Given the description of an element on the screen output the (x, y) to click on. 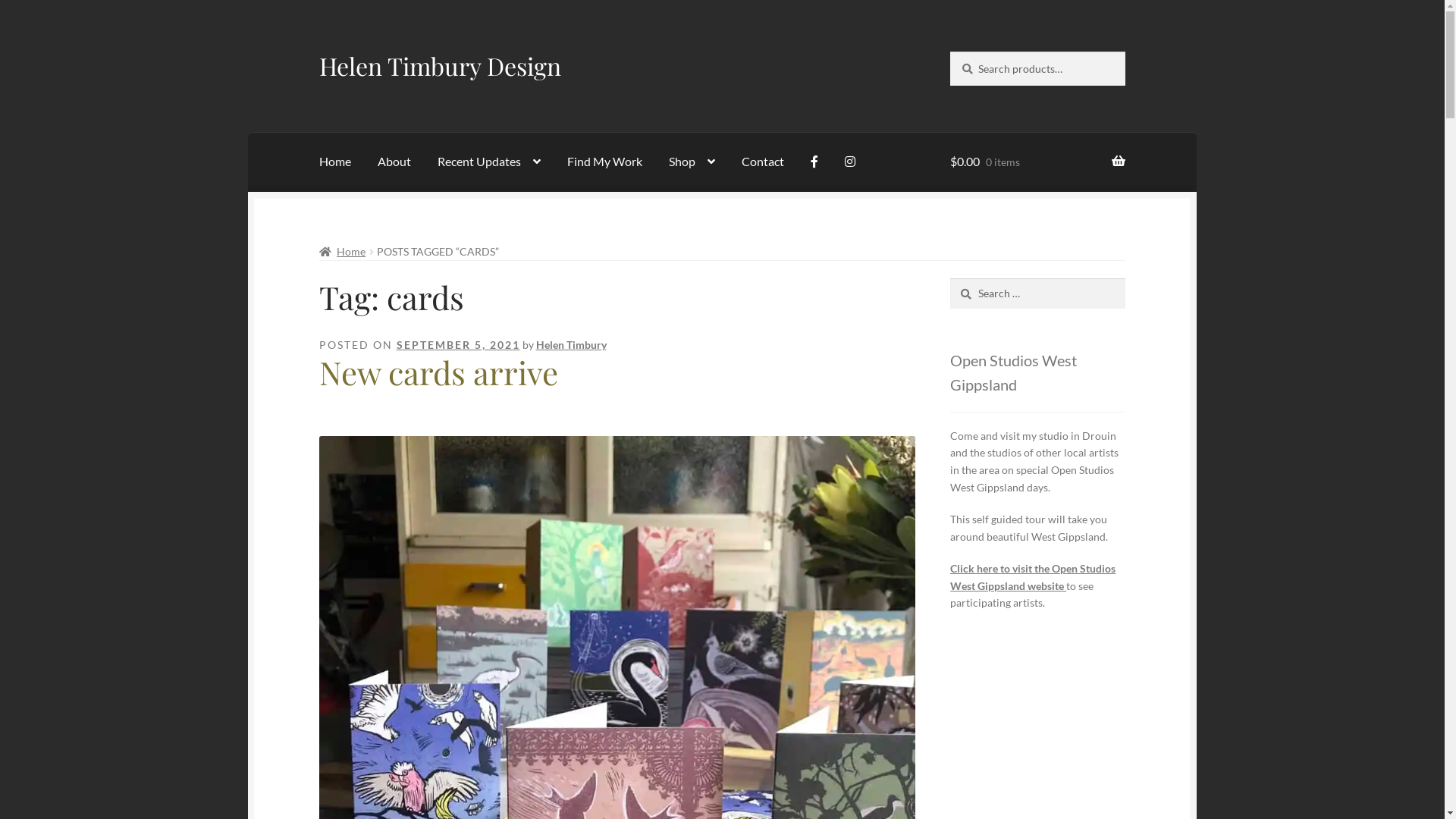
Search Element type: text (949, 50)
About Element type: text (394, 161)
Helen Timbury Design Element type: text (440, 65)
Home Element type: text (335, 161)
New cards arrive Element type: text (438, 372)
Home Element type: text (342, 250)
Click here to visit the Open Studios West Gippsland website Element type: text (1032, 576)
SEPTEMBER 5, 2021 Element type: text (458, 344)
Search Element type: text (949, 277)
Find My Work Element type: text (604, 161)
Recent Updates Element type: text (488, 161)
$0.00 0 items Element type: text (1037, 161)
Skip to navigation Element type: text (318, 50)
Shop Element type: text (691, 161)
Contact Element type: text (762, 161)
Helen Timbury Element type: text (571, 344)
